Given the description of an element on the screen output the (x, y) to click on. 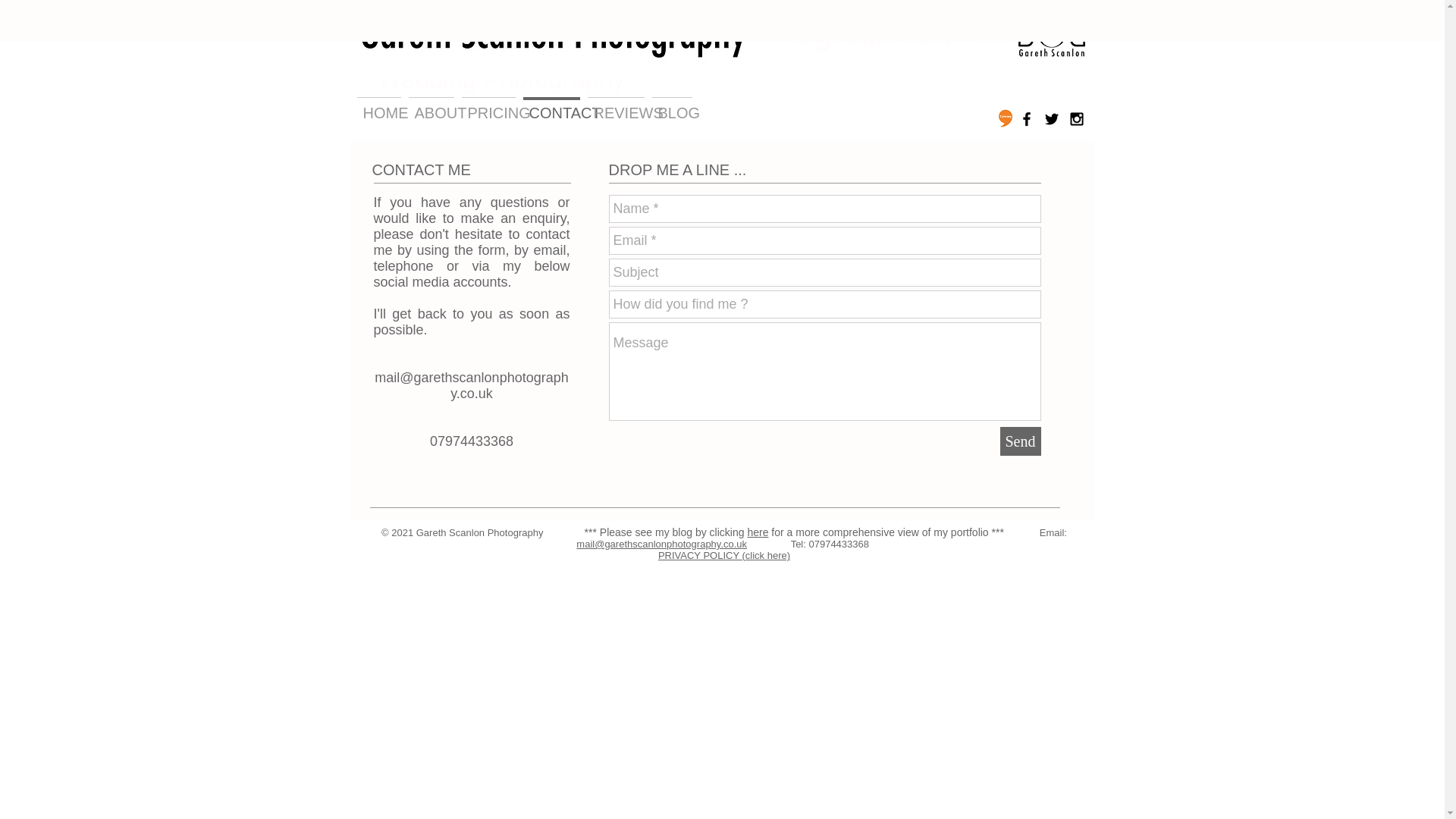
PRICING (488, 106)
HOME (378, 106)
ABOUT (431, 106)
REVIEWS (615, 106)
here (757, 532)
CONTACT (550, 106)
BLOG (671, 106)
Send (1019, 440)
